Given the description of an element on the screen output the (x, y) to click on. 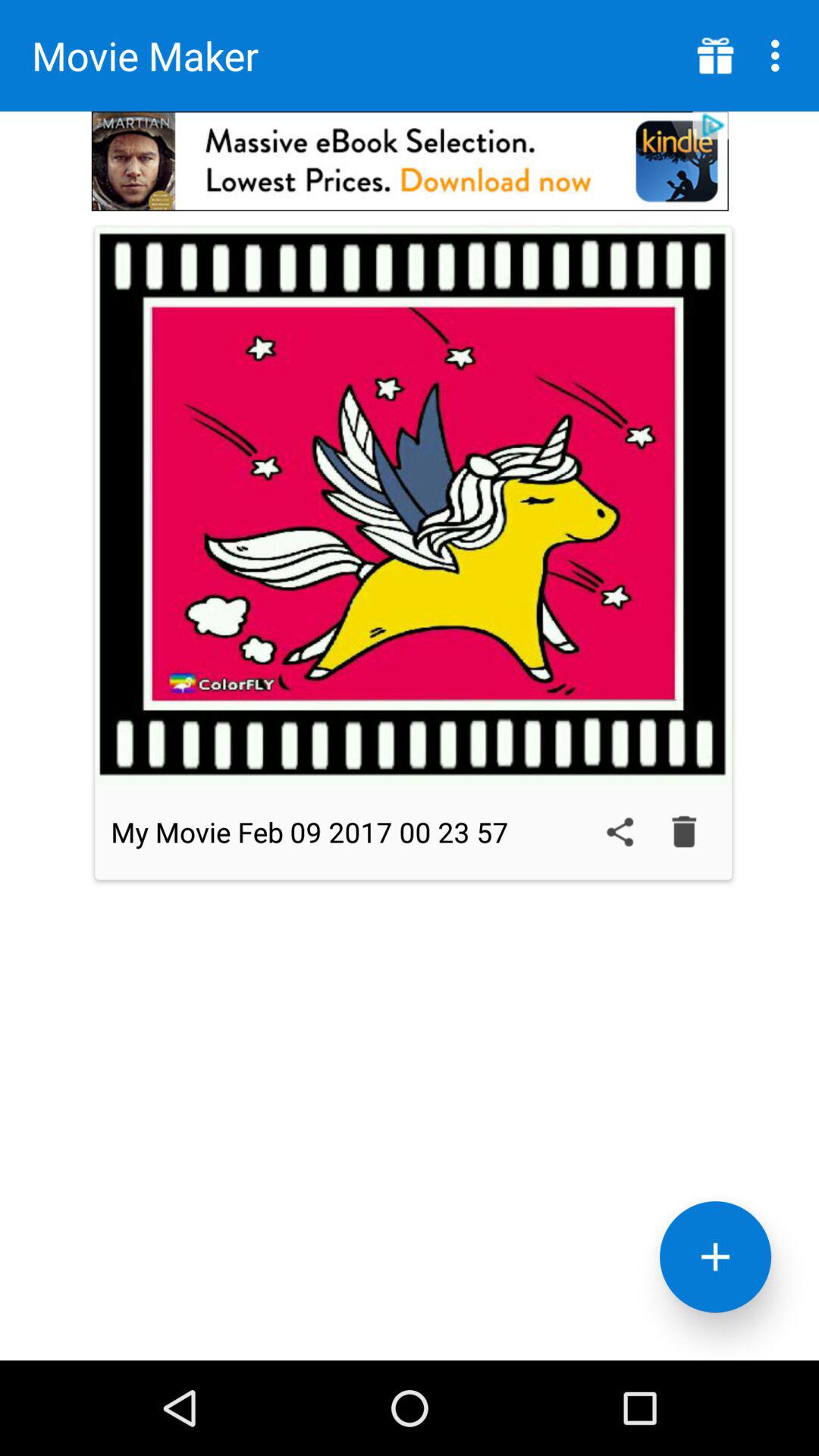
add more to movie (715, 1256)
